Given the description of an element on the screen output the (x, y) to click on. 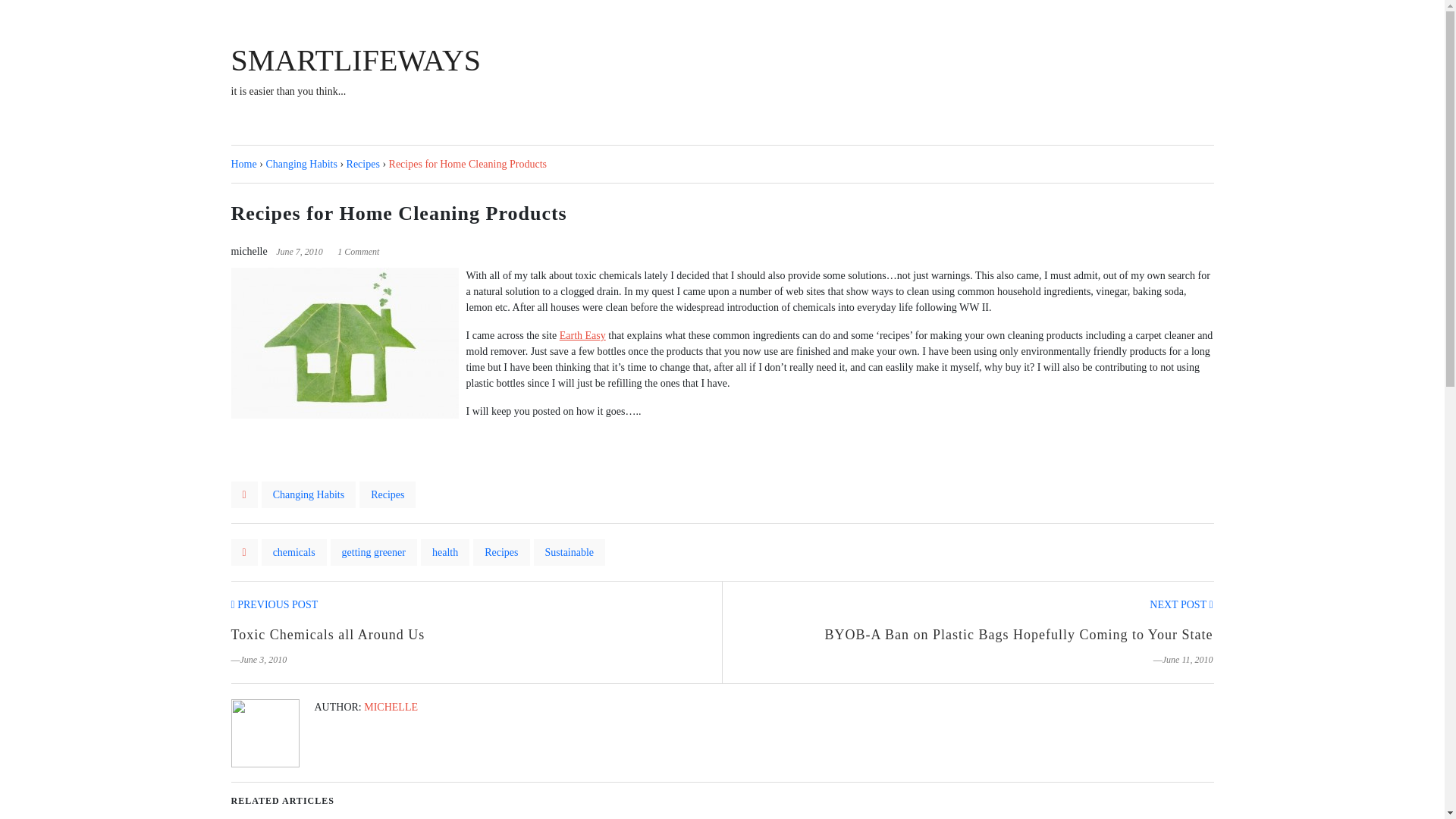
Home (243, 163)
MICHELLE (390, 706)
Recipes (501, 551)
chemicals (294, 551)
Recipes (355, 72)
BYOB-A Ban on Plastic Bags Hopefully Coming to Your State (363, 163)
Sustainable (1181, 604)
Changing Habits (569, 551)
Toxic Chemicals all Around Us (300, 163)
Recipes for Home Cleaning Products (327, 634)
Toxic Chemicals all Around Us (467, 163)
health (273, 604)
 PREVIOUS POST (444, 551)
Green House (273, 604)
